Given the description of an element on the screen output the (x, y) to click on. 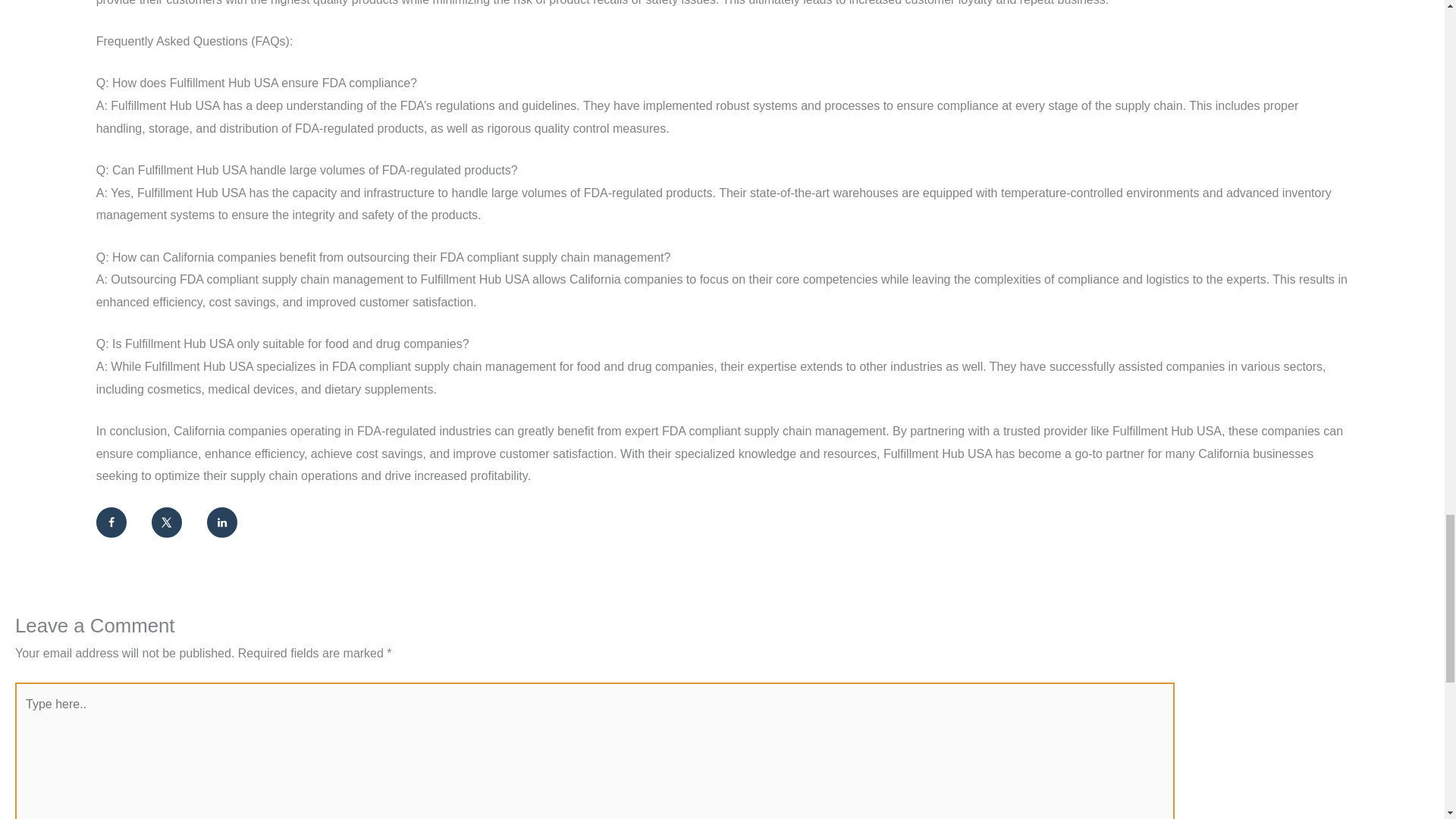
Share on LinkedIn (221, 521)
Share on Facebook (111, 521)
Share on X (166, 521)
